Given the description of an element on the screen output the (x, y) to click on. 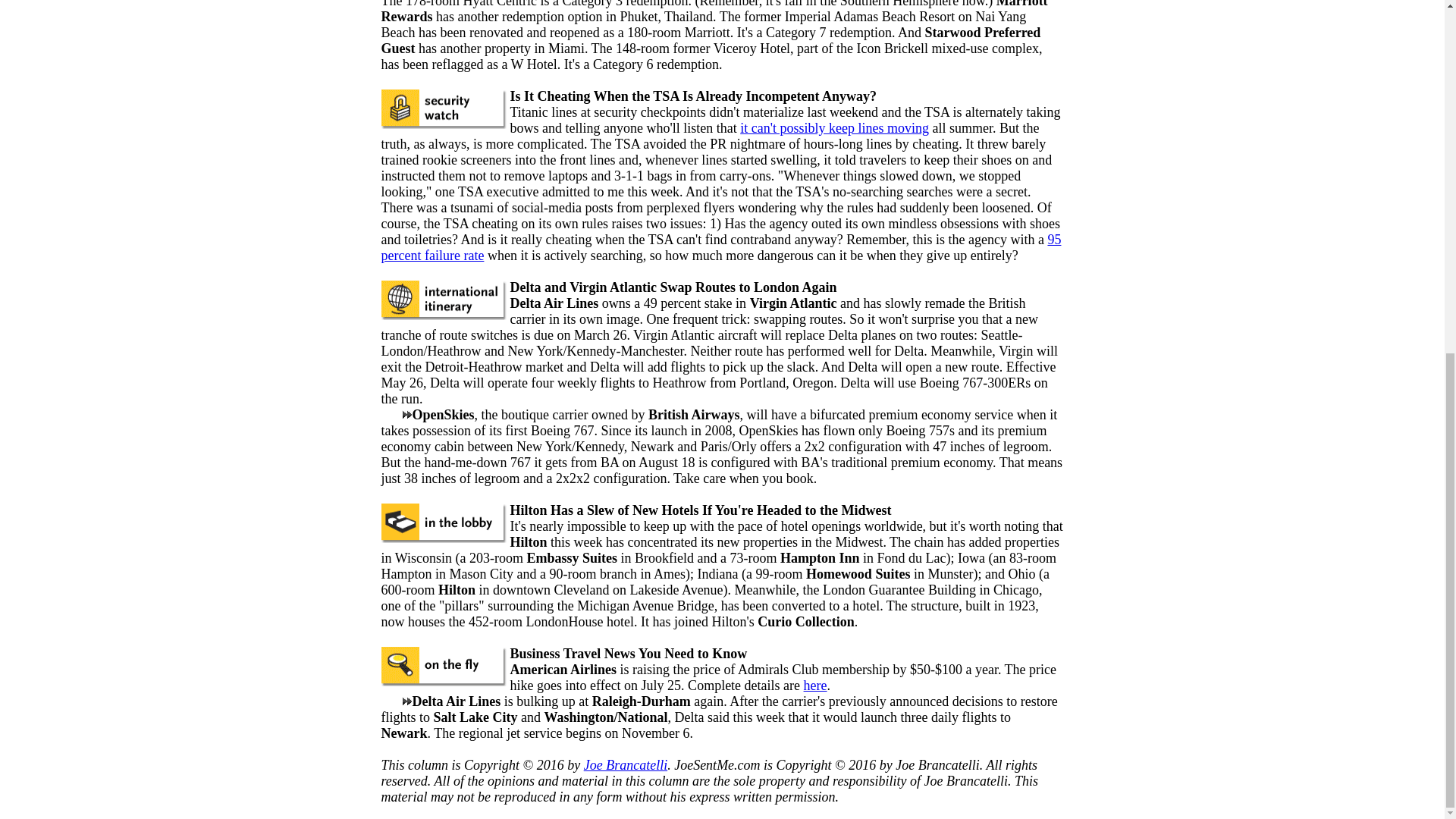
95 percent failure rate (720, 246)
here (815, 685)
Joe Brancatelli (624, 765)
it can't possibly keep lines moving (833, 127)
